Given the description of an element on the screen output the (x, y) to click on. 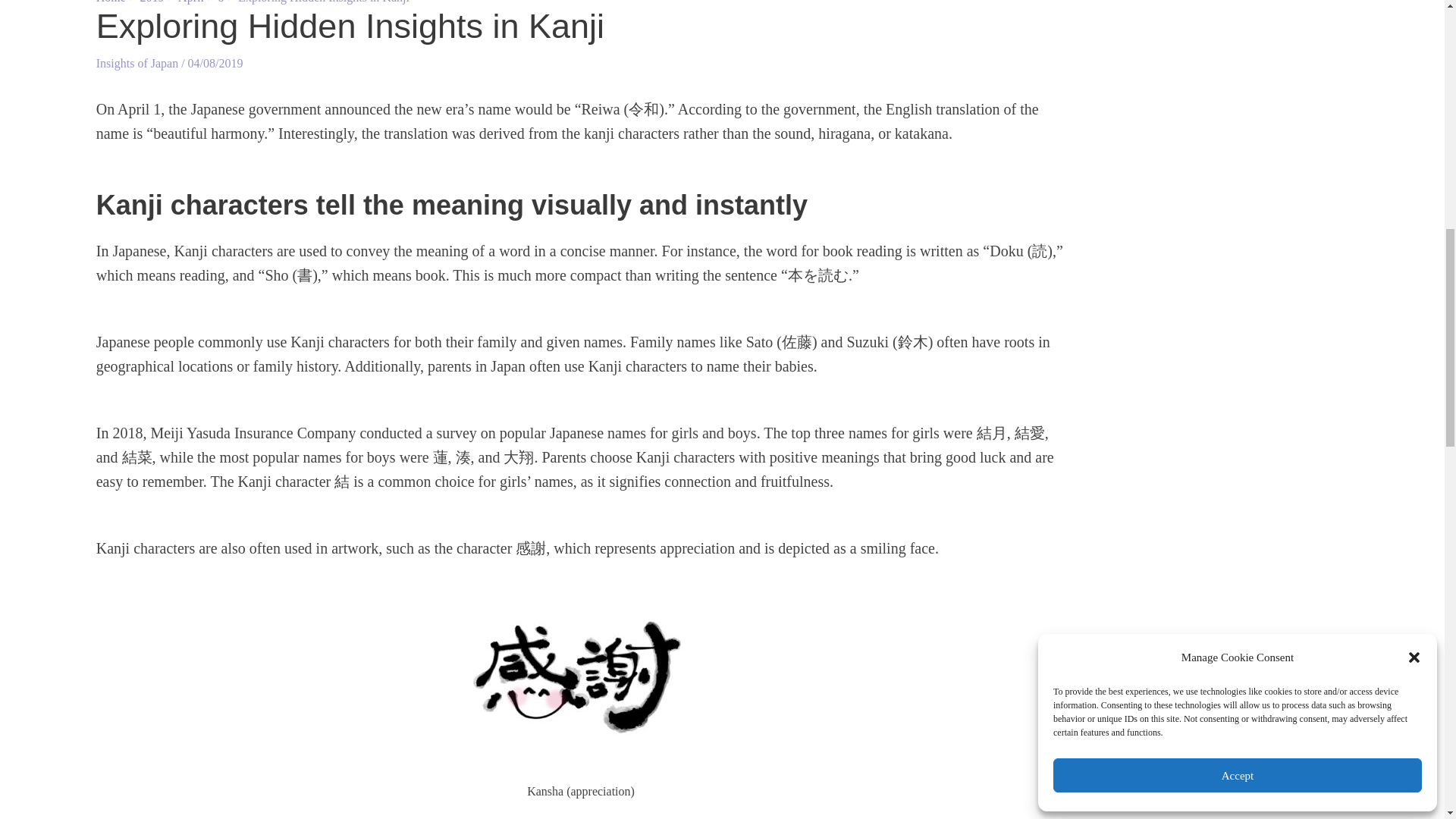
Home (110, 2)
April (190, 2)
2019 (151, 2)
Insights of Japan (136, 62)
